Given the description of an element on the screen output the (x, y) to click on. 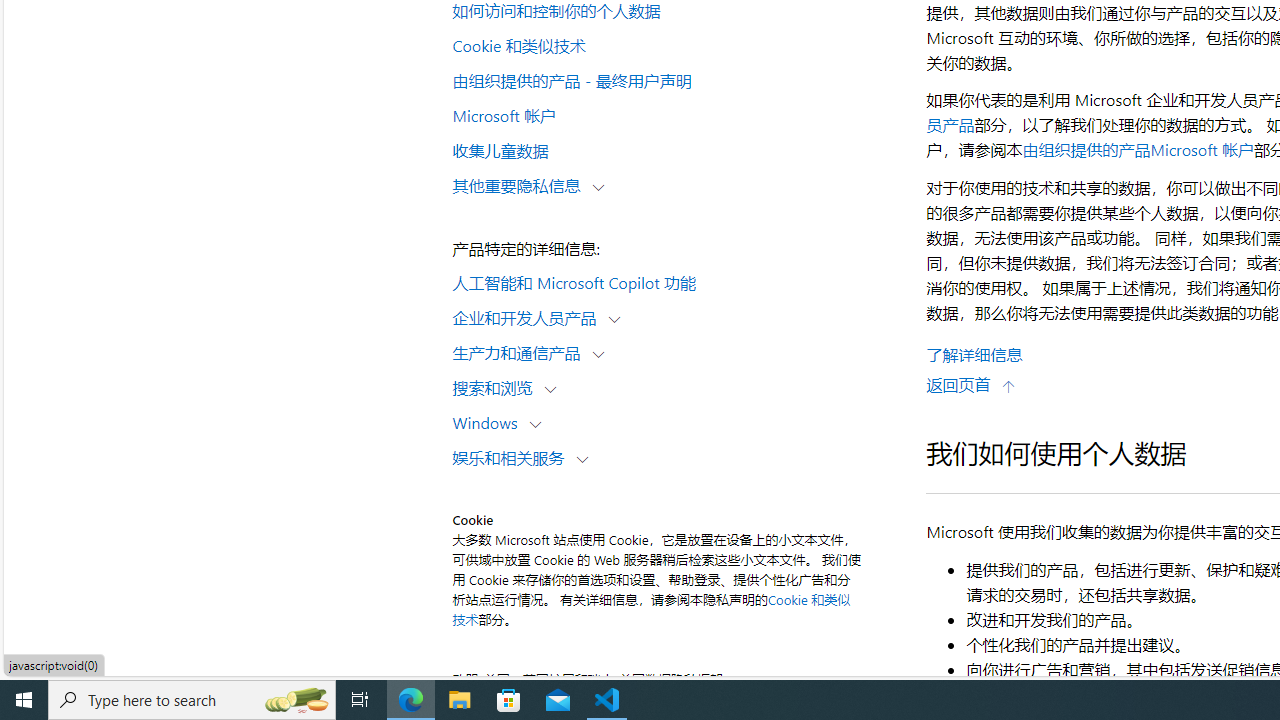
Windows (489, 421)
